Given the description of an element on the screen output the (x, y) to click on. 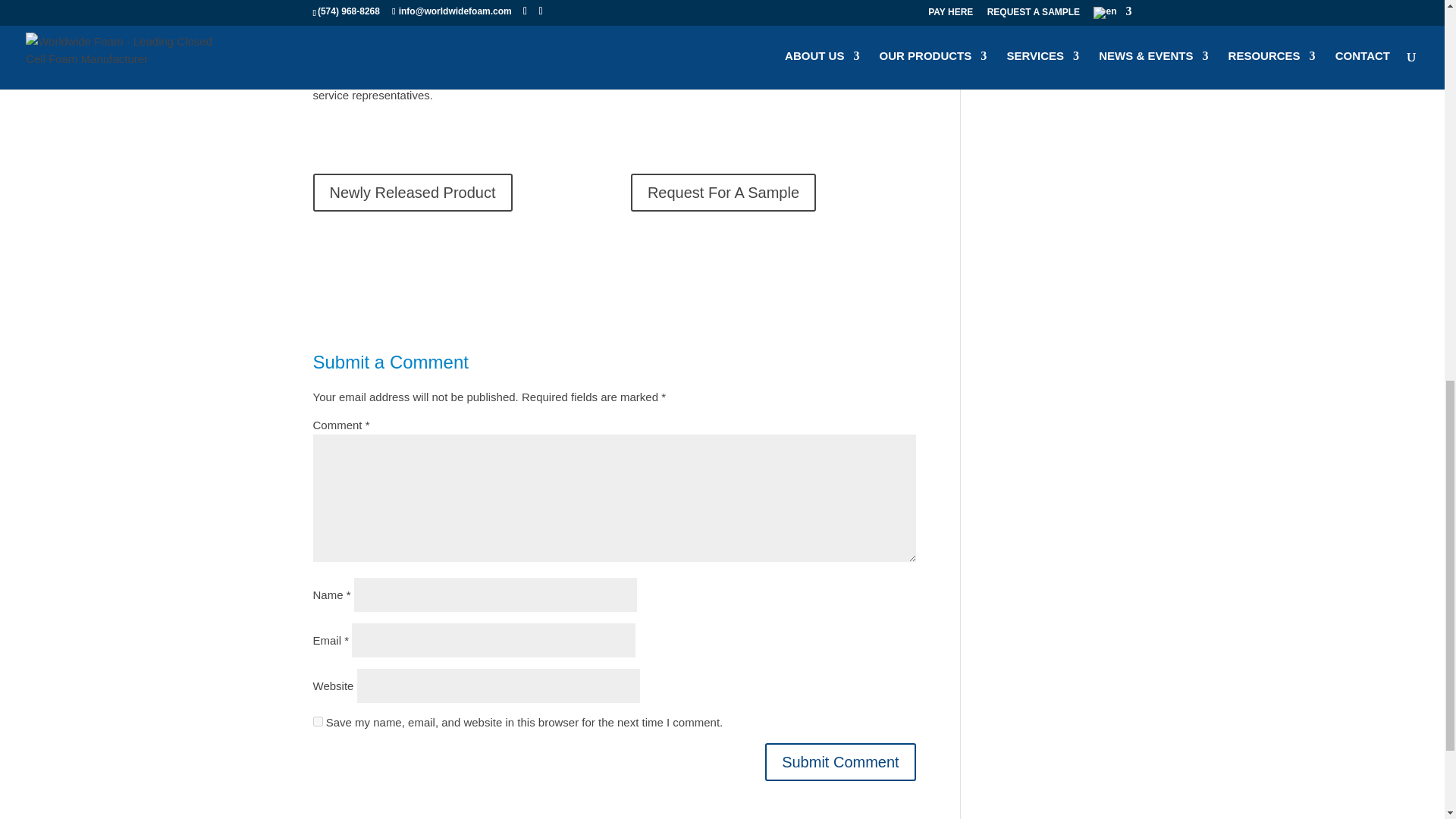
yes (317, 721)
Submit Comment (840, 761)
